Given the description of an element on the screen output the (x, y) to click on. 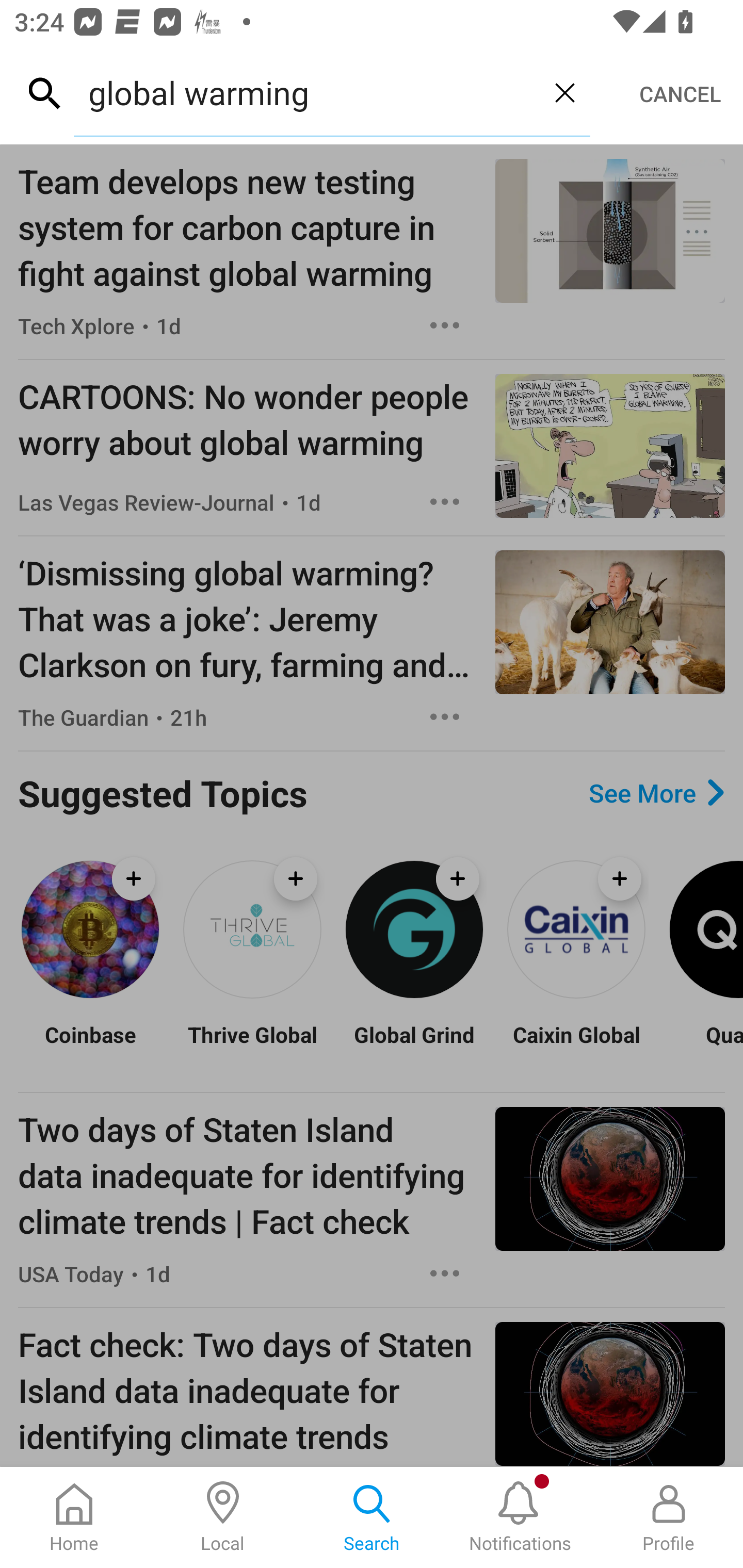
Clear query (564, 92)
CANCEL (680, 93)
global warming (306, 92)
Home (74, 1517)
Local (222, 1517)
Notifications, New notification Notifications (519, 1517)
Profile (668, 1517)
